Given the description of an element on the screen output the (x, y) to click on. 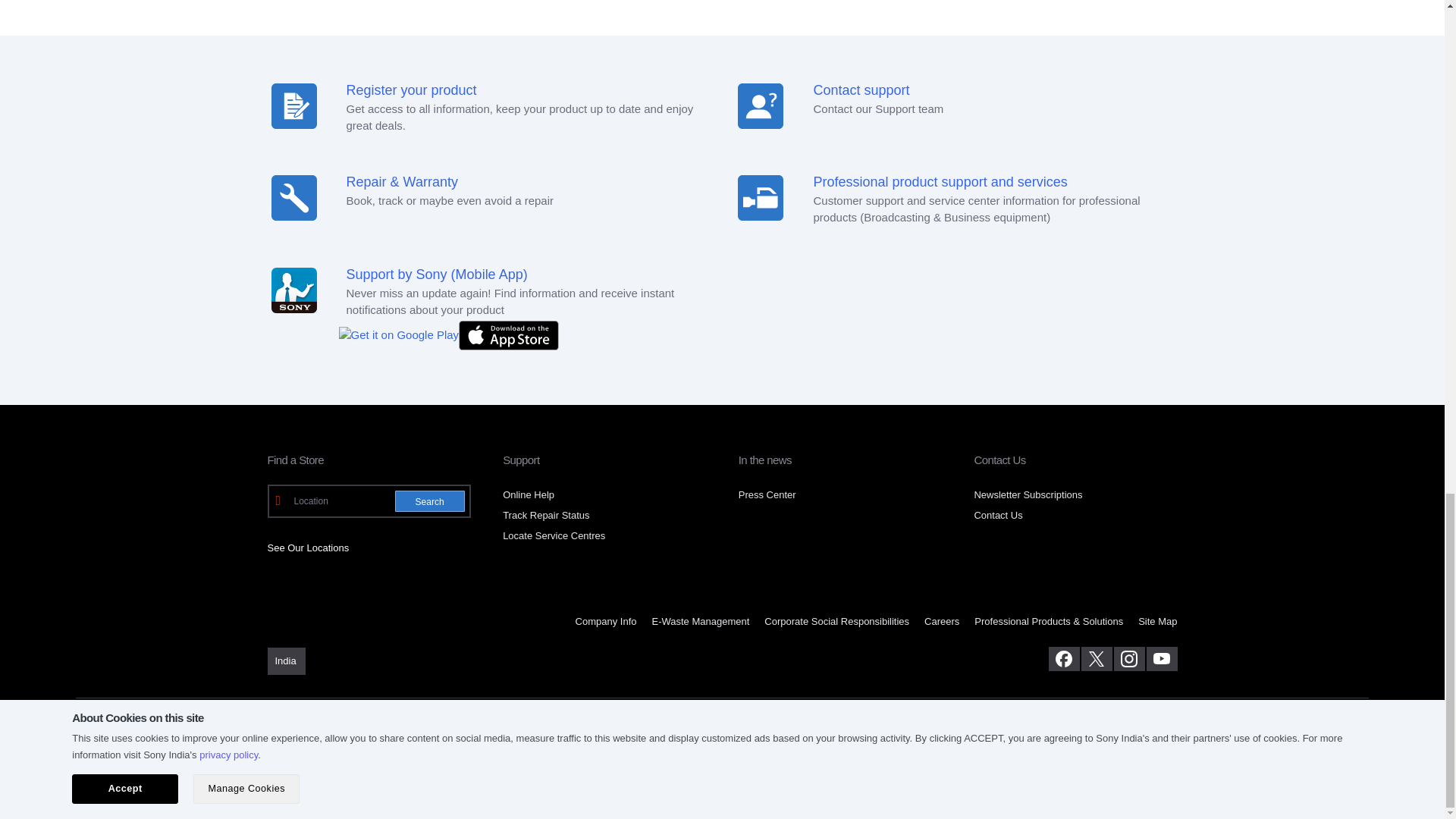
nntnnnttnn (760, 197)
